Given the description of an element on the screen output the (x, y) to click on. 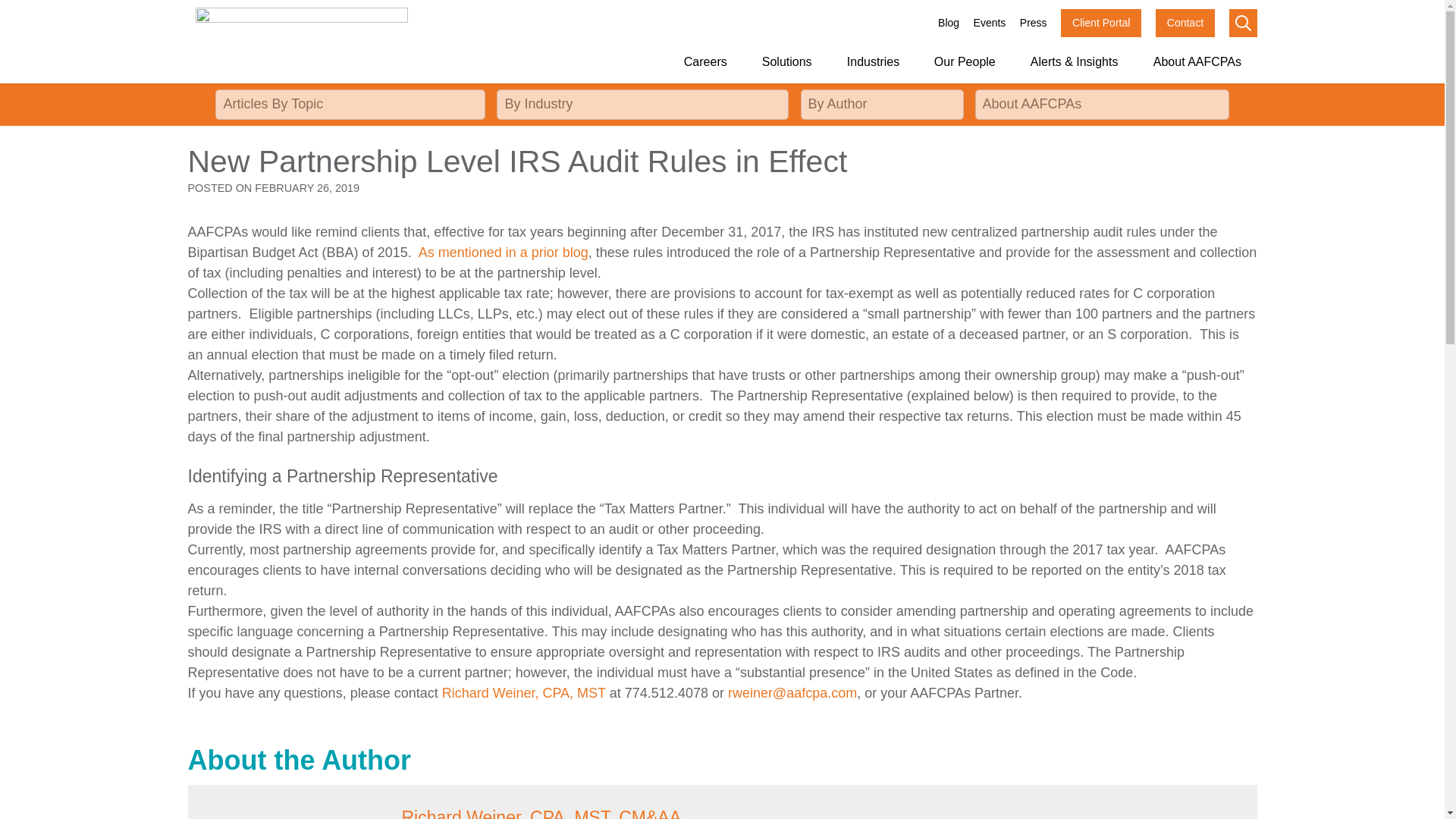
Press (1033, 22)
Solutions (786, 61)
Careers (705, 61)
Client Portal (1101, 22)
Events (990, 22)
Contact (1185, 22)
